Given the description of an element on the screen output the (x, y) to click on. 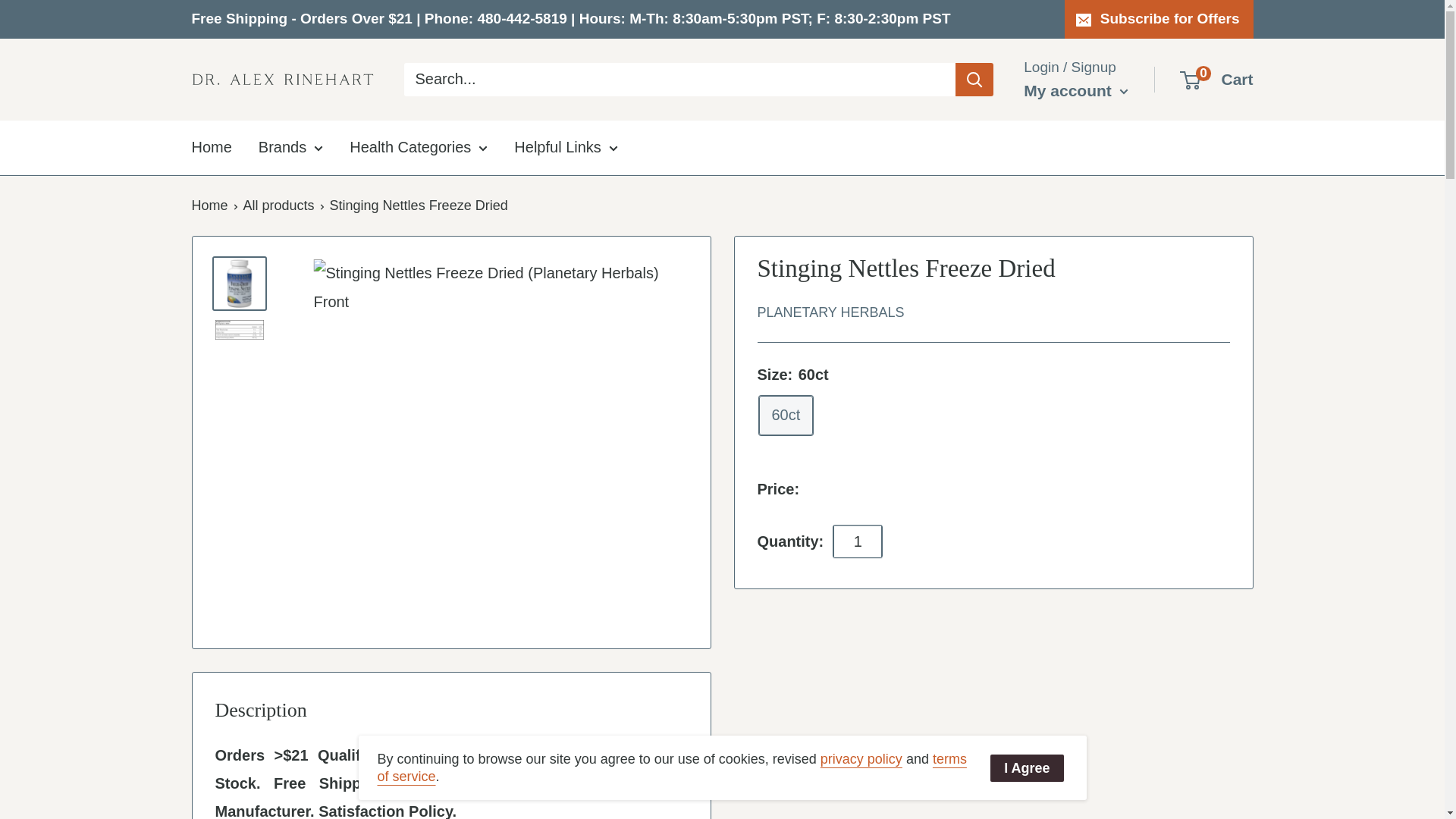
Terms of Service (671, 767)
1 (857, 541)
60ct (785, 414)
Subscribe for Offers (1158, 18)
